Given the description of an element on the screen output the (x, y) to click on. 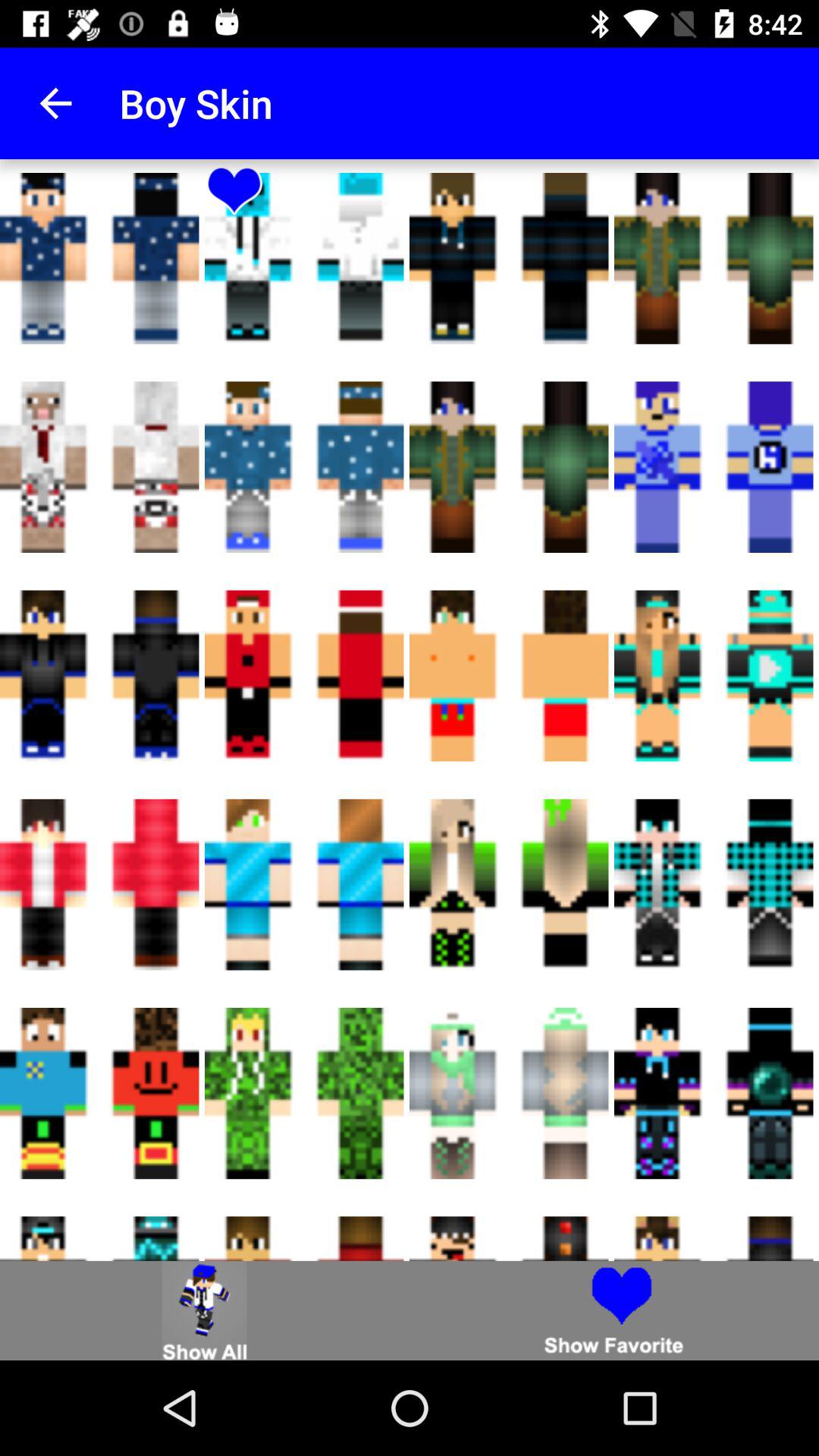
show favourite skins (614, 1310)
